Given the description of an element on the screen output the (x, y) to click on. 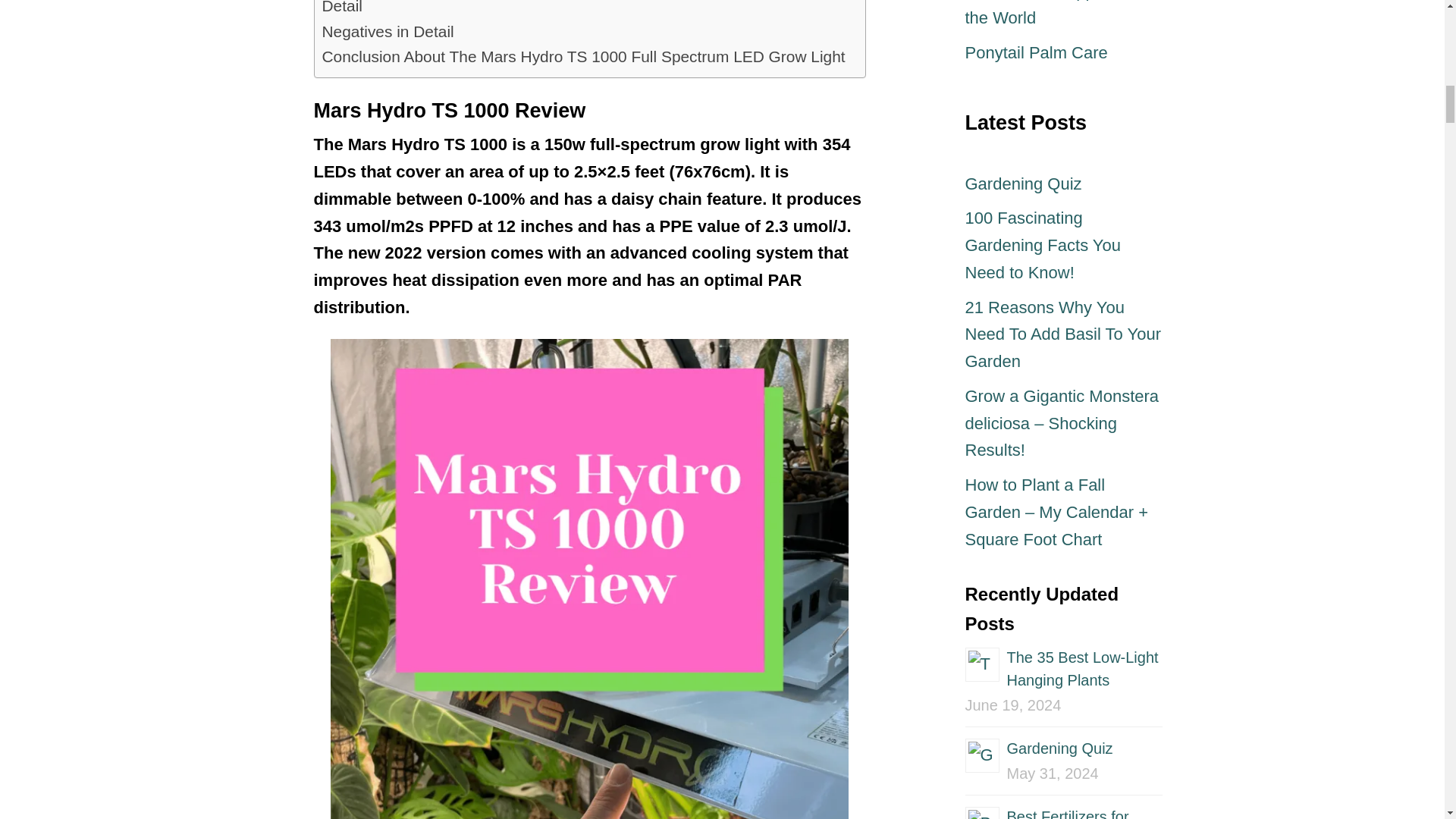
Negatives in Detail (386, 31)
